Given the description of an element on the screen output the (x, y) to click on. 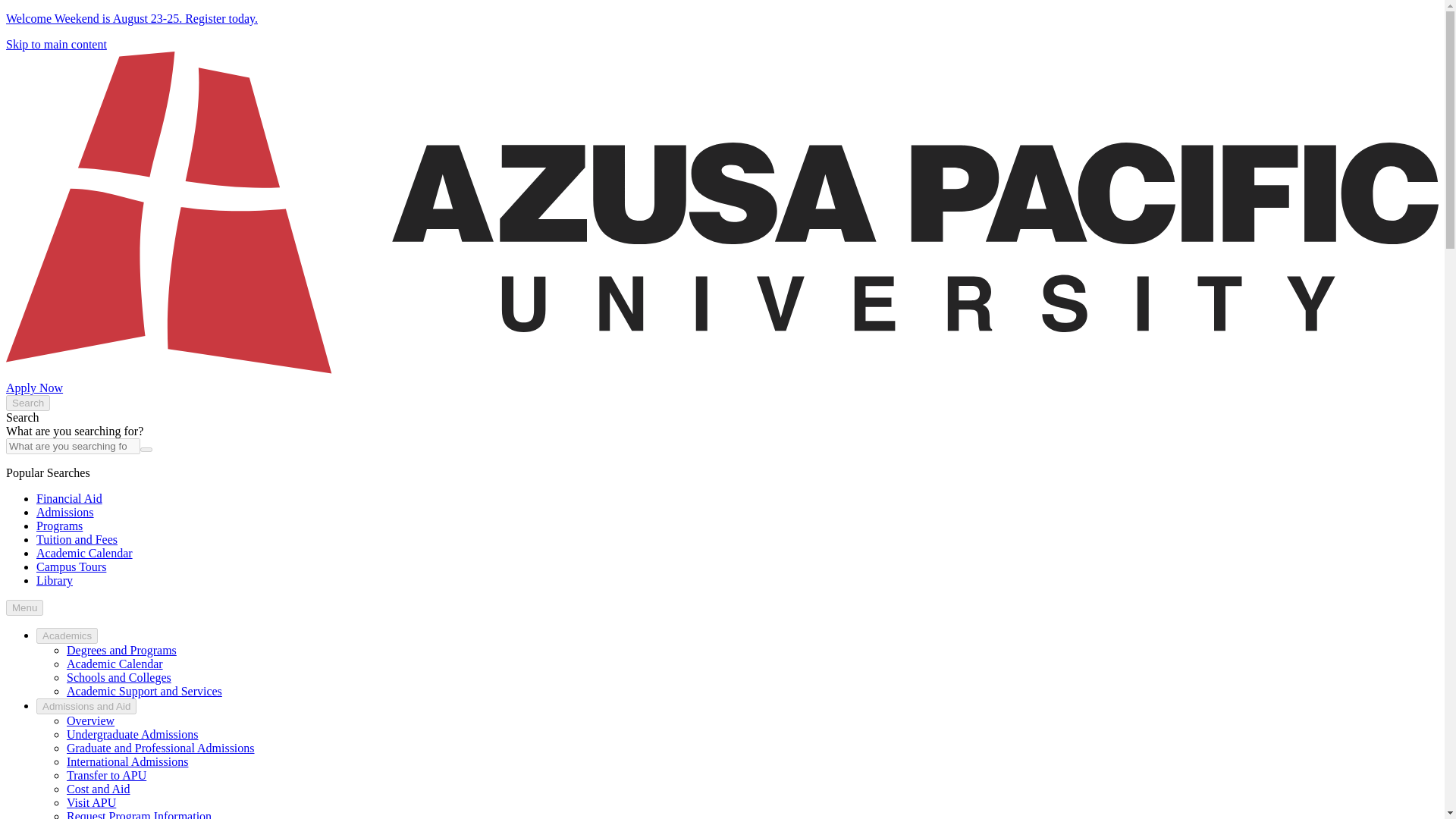
Overview (90, 720)
Menu (24, 607)
Academic Support and Services (144, 690)
Admissions and Aid (86, 706)
Academic Calendar (114, 663)
Programs (59, 525)
Request Program Information (138, 814)
Schools and Colleges (118, 676)
Admissions (65, 512)
Graduate and Professional Admissions (160, 748)
Campus Tours (71, 566)
International Admissions (126, 761)
Apply Now (33, 387)
Tuition and Fees (76, 539)
Degrees and Programs (121, 649)
